Given the description of an element on the screen output the (x, y) to click on. 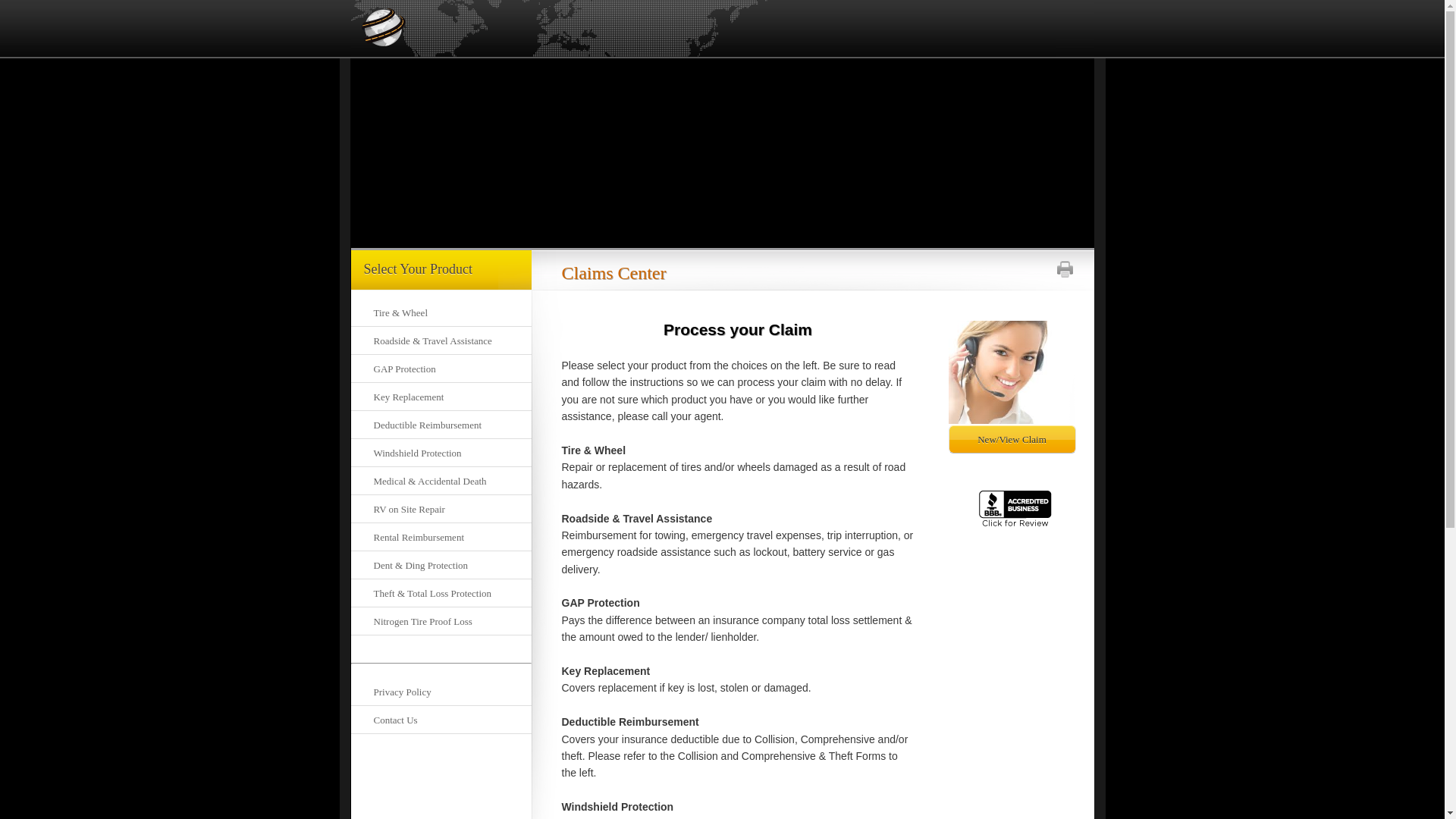
Contact Us (440, 719)
Nitrogen Tire Proof Loss (440, 621)
Deductible Reimbursement (440, 424)
Windshield Protection (440, 452)
RV on Site Repair (440, 509)
Rental Reimbursement (440, 537)
Key Replacement (440, 397)
Privacy Policy (440, 691)
Print This Page (1064, 268)
GAP Protection (440, 369)
PRINT (1064, 268)
